Given the description of an element on the screen output the (x, y) to click on. 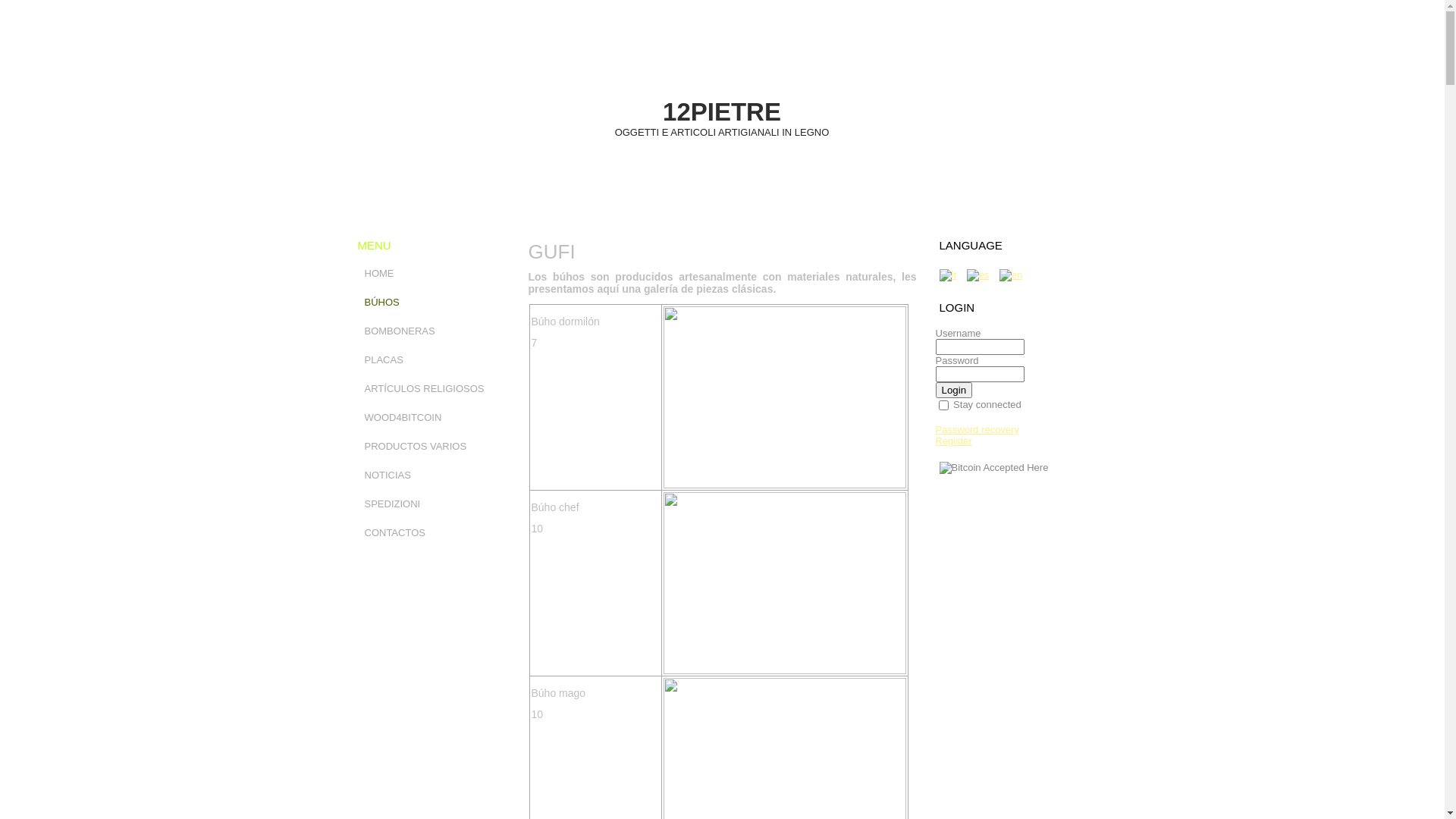
WOOD4BITCOIN Element type: text (431, 417)
CONTACTOS Element type: text (431, 532)
PRODUCTOS VARIOS Element type: text (431, 446)
PLACAS Element type: text (431, 359)
HOME Element type: text (431, 273)
Login Element type: text (953, 390)
SPEDIZIONI Element type: text (431, 503)
NOTICIAS Element type: text (431, 475)
BOMBONERAS Element type: text (431, 331)
12PIETRE Element type: text (721, 111)
Password recovery Element type: text (977, 429)
Register Element type: text (953, 440)
